Given the description of an element on the screen output the (x, y) to click on. 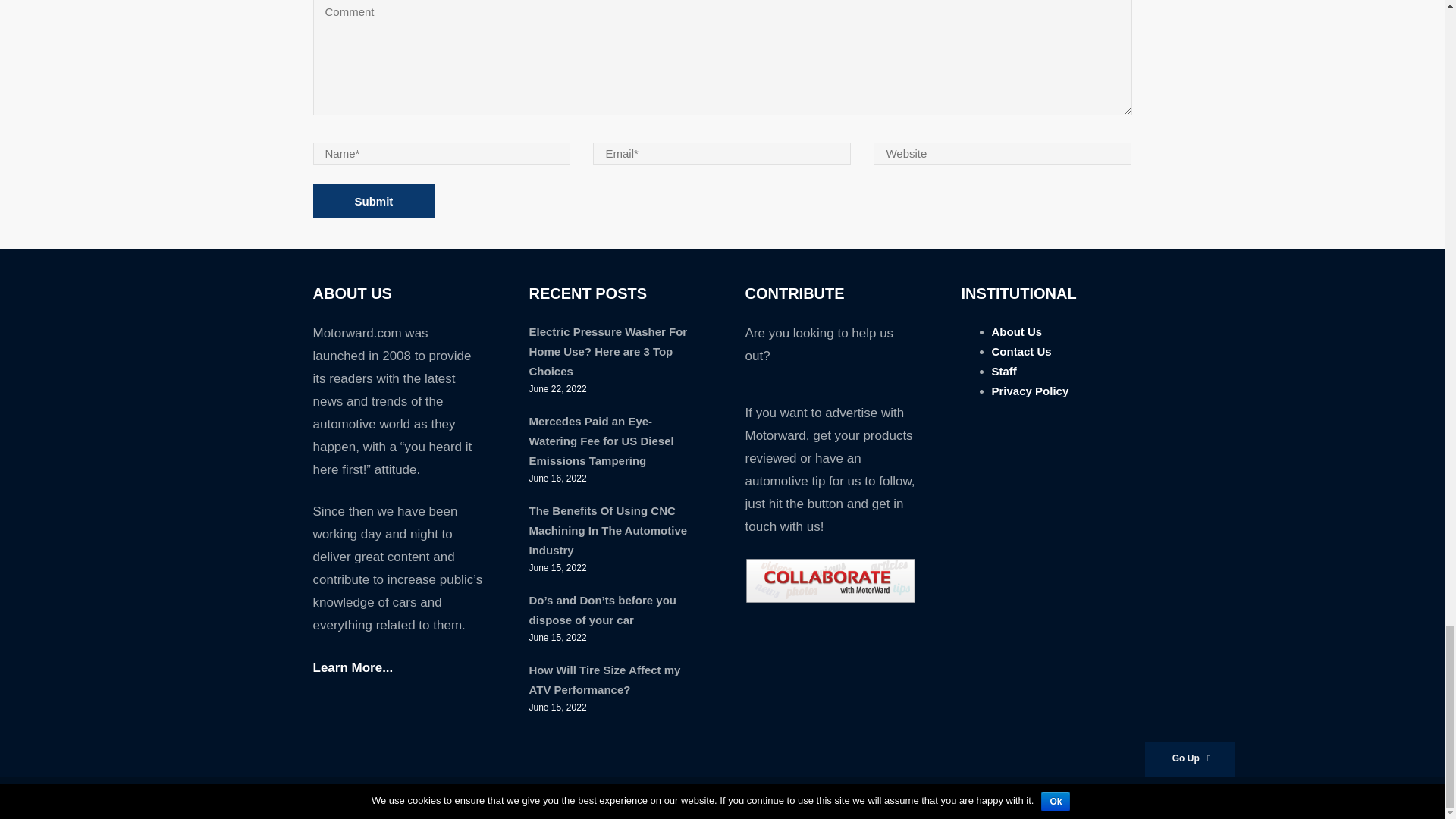
Submit (373, 201)
